Given the description of an element on the screen output the (x, y) to click on. 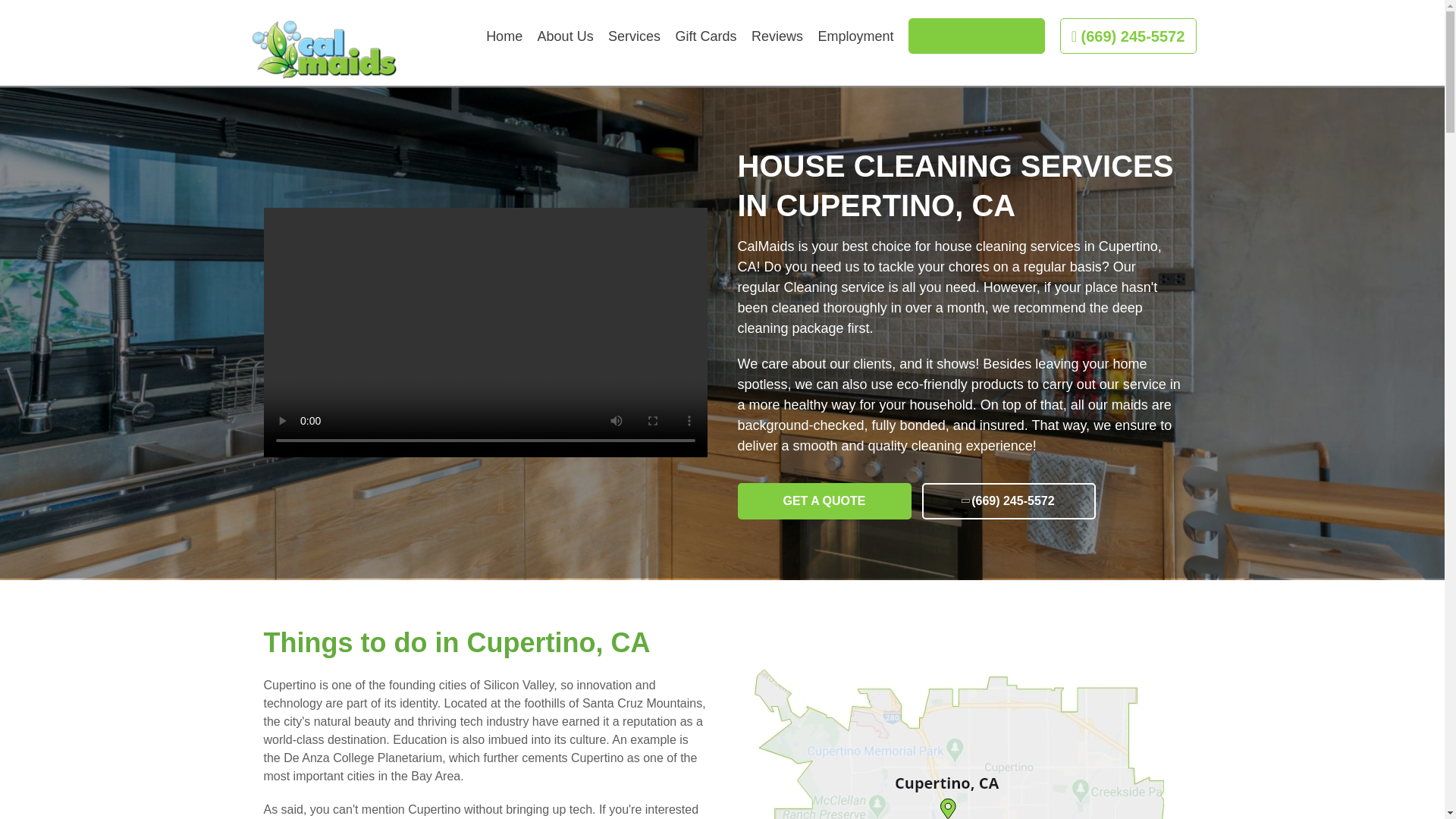
Services (634, 35)
Cal Maids (324, 50)
GET A QUOTE (823, 501)
Home (504, 35)
Gift Cards (705, 35)
Employment (855, 35)
About Us (565, 35)
Reviews (777, 35)
GET A QUOTE (976, 36)
